Given the description of an element on the screen output the (x, y) to click on. 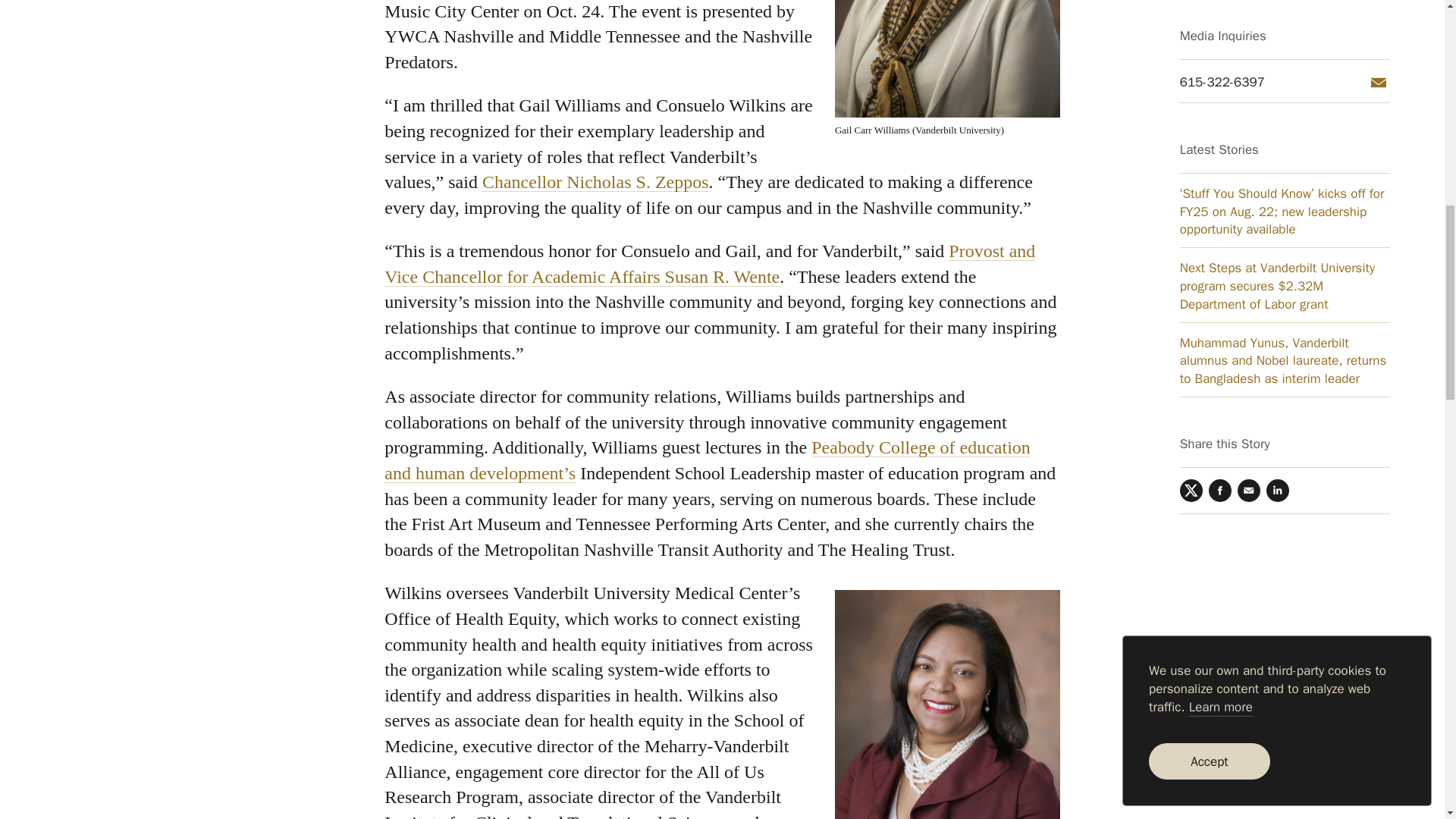
LinkedIn (1277, 123)
Email (1248, 123)
Chancellor Nicholas S. Zeppos (595, 181)
Facebook (1219, 123)
Twitter (1190, 123)
